Given the description of an element on the screen output the (x, y) to click on. 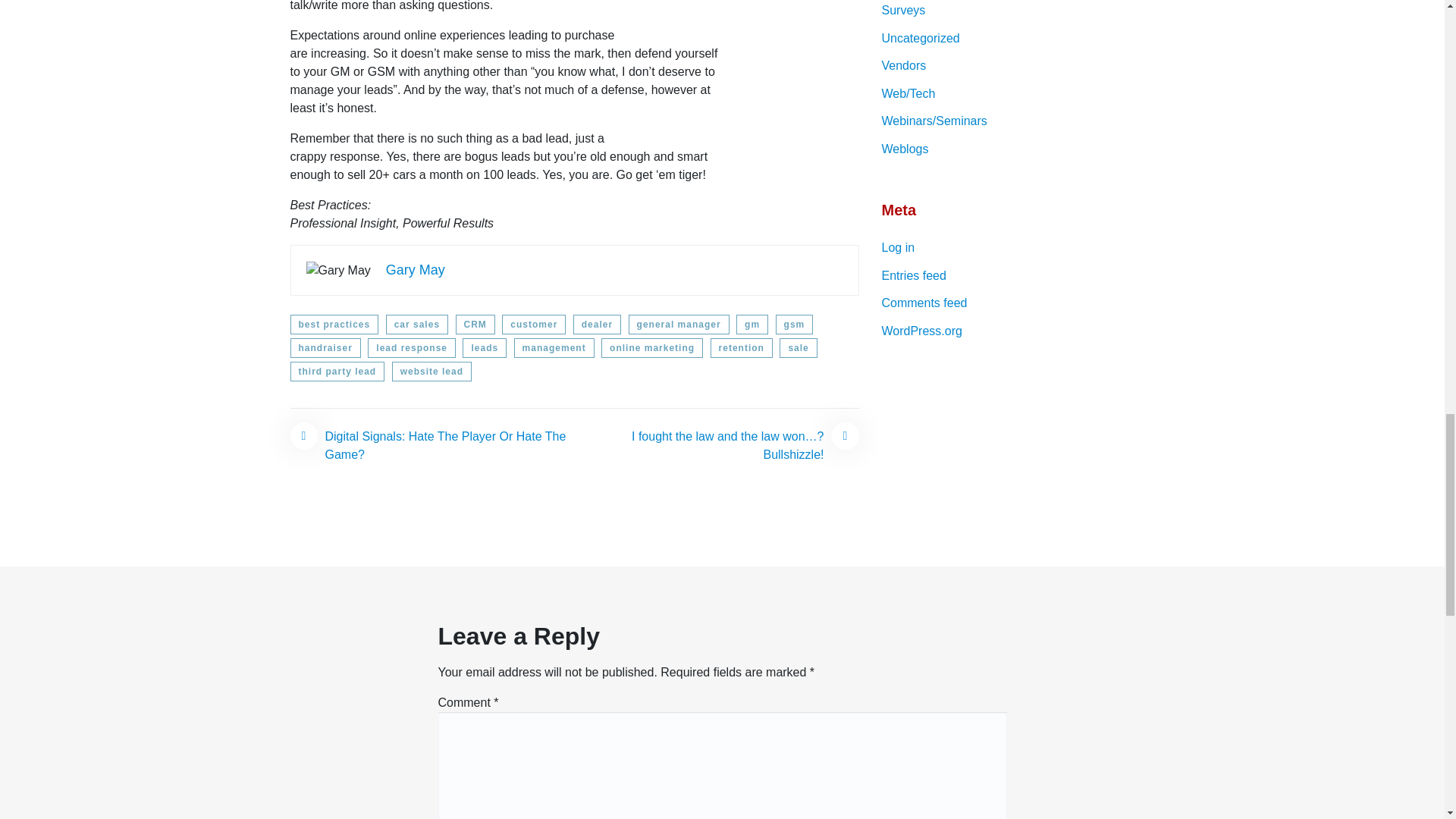
online marketing (652, 347)
Gary May (415, 269)
third party lead (336, 371)
gm (752, 324)
customer (534, 324)
retention (741, 347)
management (553, 347)
leads (484, 347)
best practices (333, 324)
CRM (475, 324)
